Given the description of an element on the screen output the (x, y) to click on. 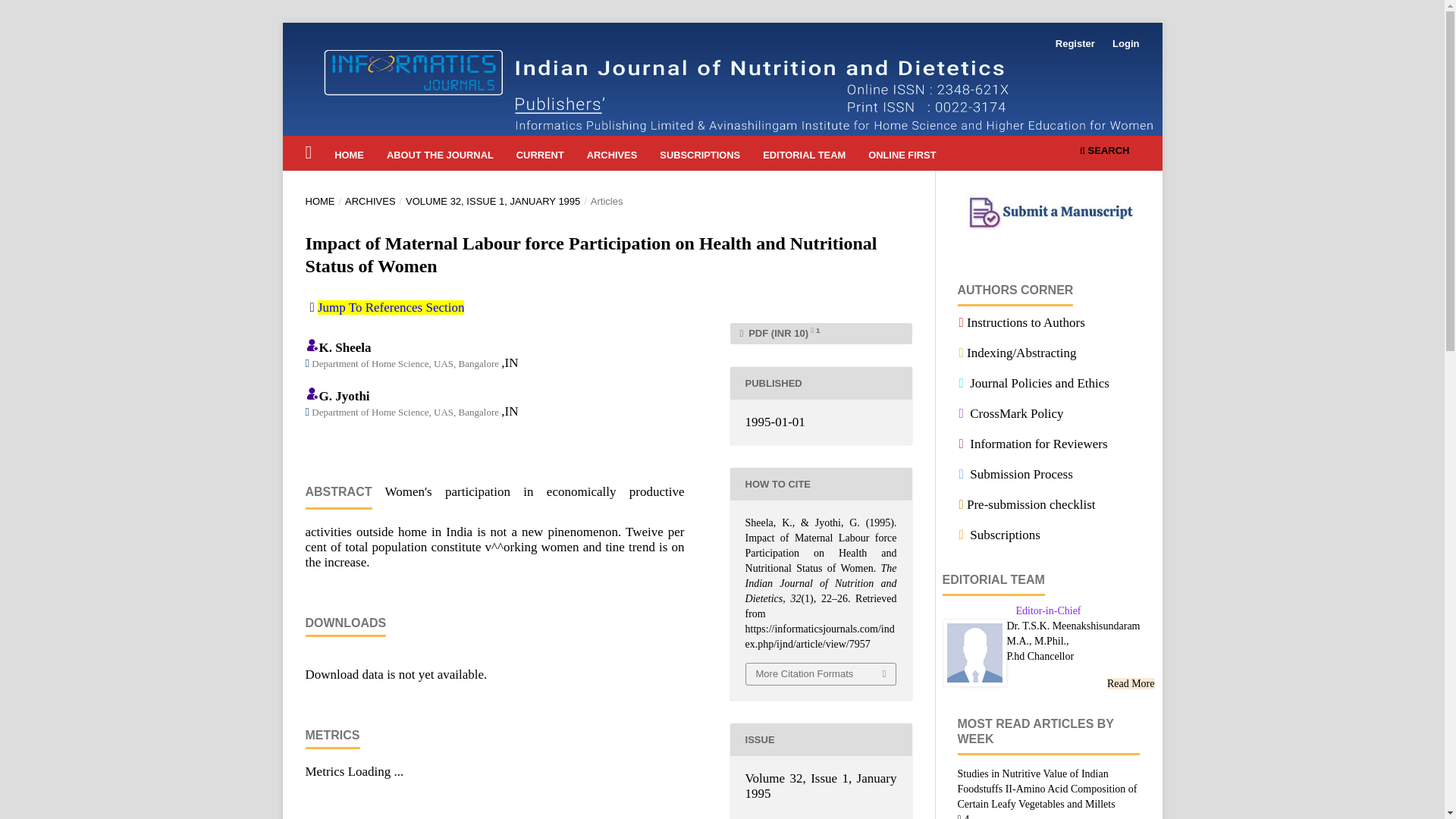
Register (1075, 43)
HOME (349, 157)
Volume 32, Issue 1, January 1995 (820, 785)
VOLUME 32, ISSUE 1, JANUARY 1995 (492, 201)
Jump To References Section (390, 307)
EDITORIAL TEAM (804, 157)
ONLINE FIRST (901, 157)
ARCHIVES (611, 157)
Login (1126, 43)
HOME (319, 201)
